Given the description of an element on the screen output the (x, y) to click on. 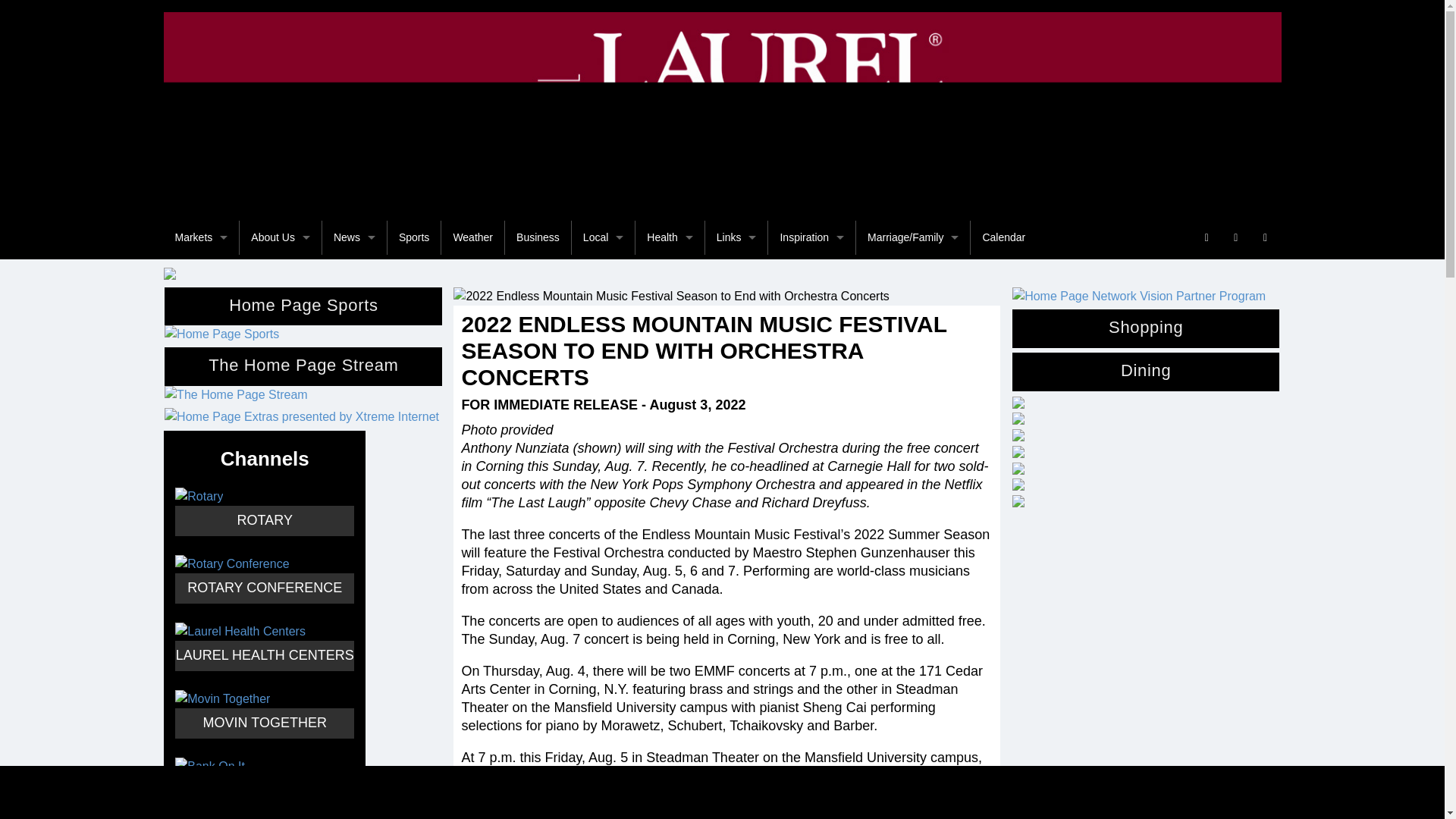
Troy Home Page (201, 442)
Canton Home Page (201, 374)
Blossburg Home Page (201, 339)
Management (280, 442)
News (354, 237)
Home Page Extras (280, 339)
Jobs (280, 476)
The Home Page Network (201, 271)
Archives (280, 646)
MSNBC (354, 715)
